Given the description of an element on the screen output the (x, y) to click on. 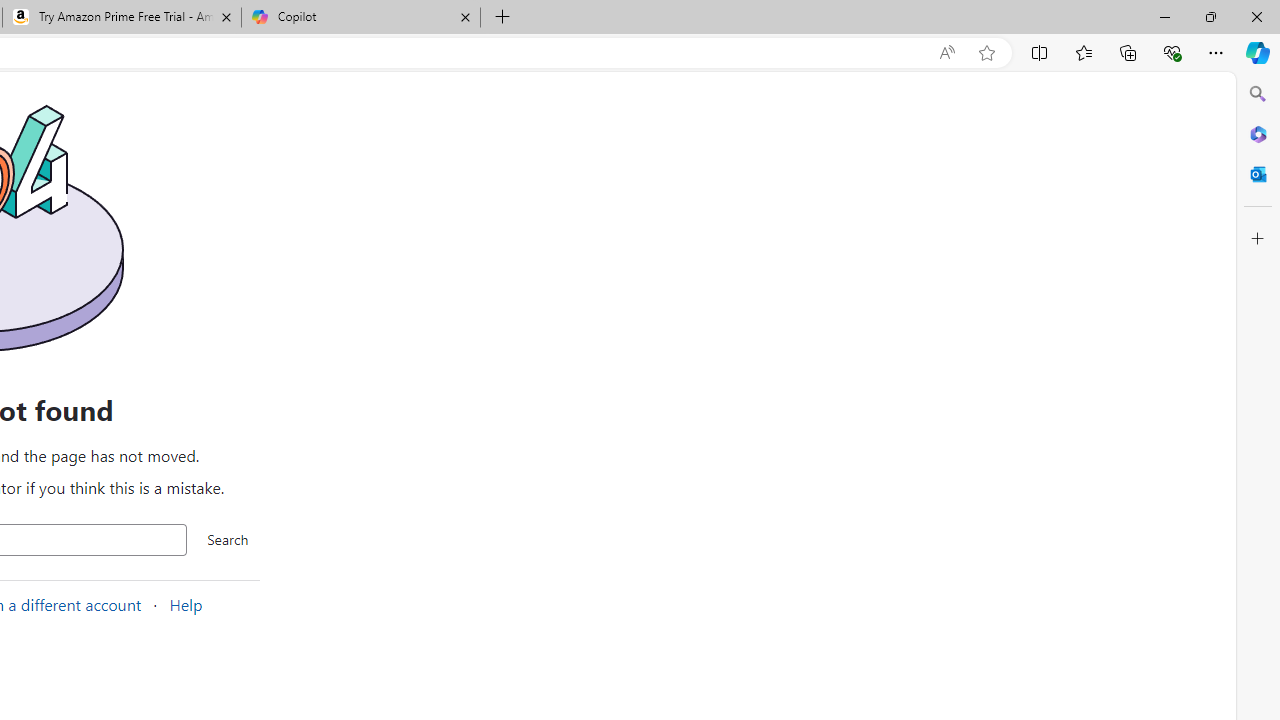
Name (644, 445)
New project (680, 330)
Sort direction: Ascending (699, 445)
Copilot (360, 17)
Shopping in Microsoft Edge (906, 53)
Explore projects (565, 330)
Class: s14 gl-mr-2 (712, 508)
